Given the description of an element on the screen output the (x, y) to click on. 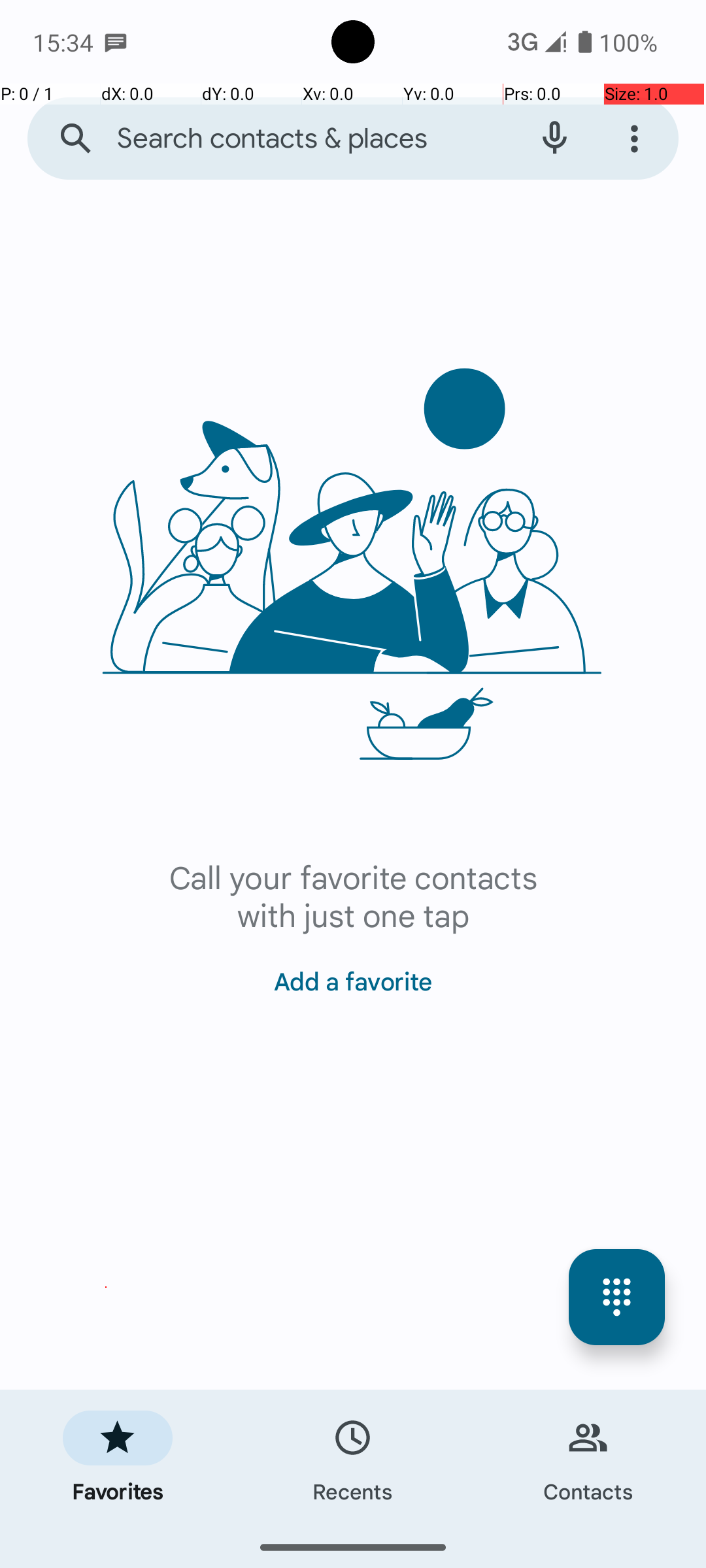
Call your favorite contacts with just one tap Element type: android.widget.TextView (352, 895)
Add a favorite Element type: android.widget.TextView (353, 973)
key pad Element type: android.widget.ImageButton (616, 1297)
Recents Element type: android.widget.FrameLayout (352, 1457)
Start voice search Element type: android.widget.Button (554, 138)
